Given the description of an element on the screen output the (x, y) to click on. 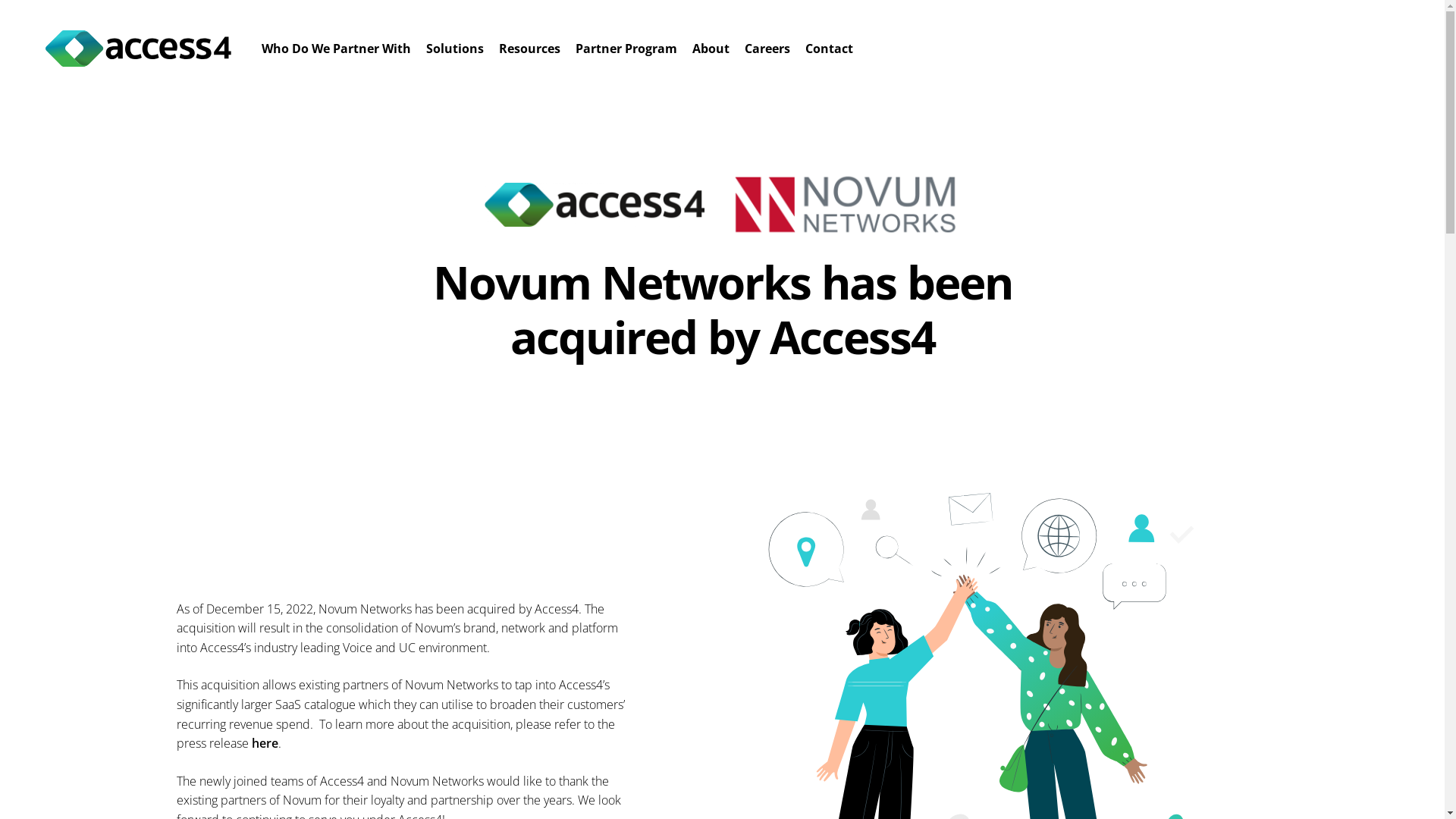
Contact Element type: text (828, 48)
Partner Program Element type: text (625, 48)
Resources Element type: text (529, 48)
here Element type: text (264, 742)
Careers Element type: text (767, 48)
About Element type: text (710, 48)
Access4 Logo Element type: hover (138, 48)
Solutions Element type: text (454, 48)
Who Do We Partner With Element type: text (336, 48)
